Given the description of an element on the screen output the (x, y) to click on. 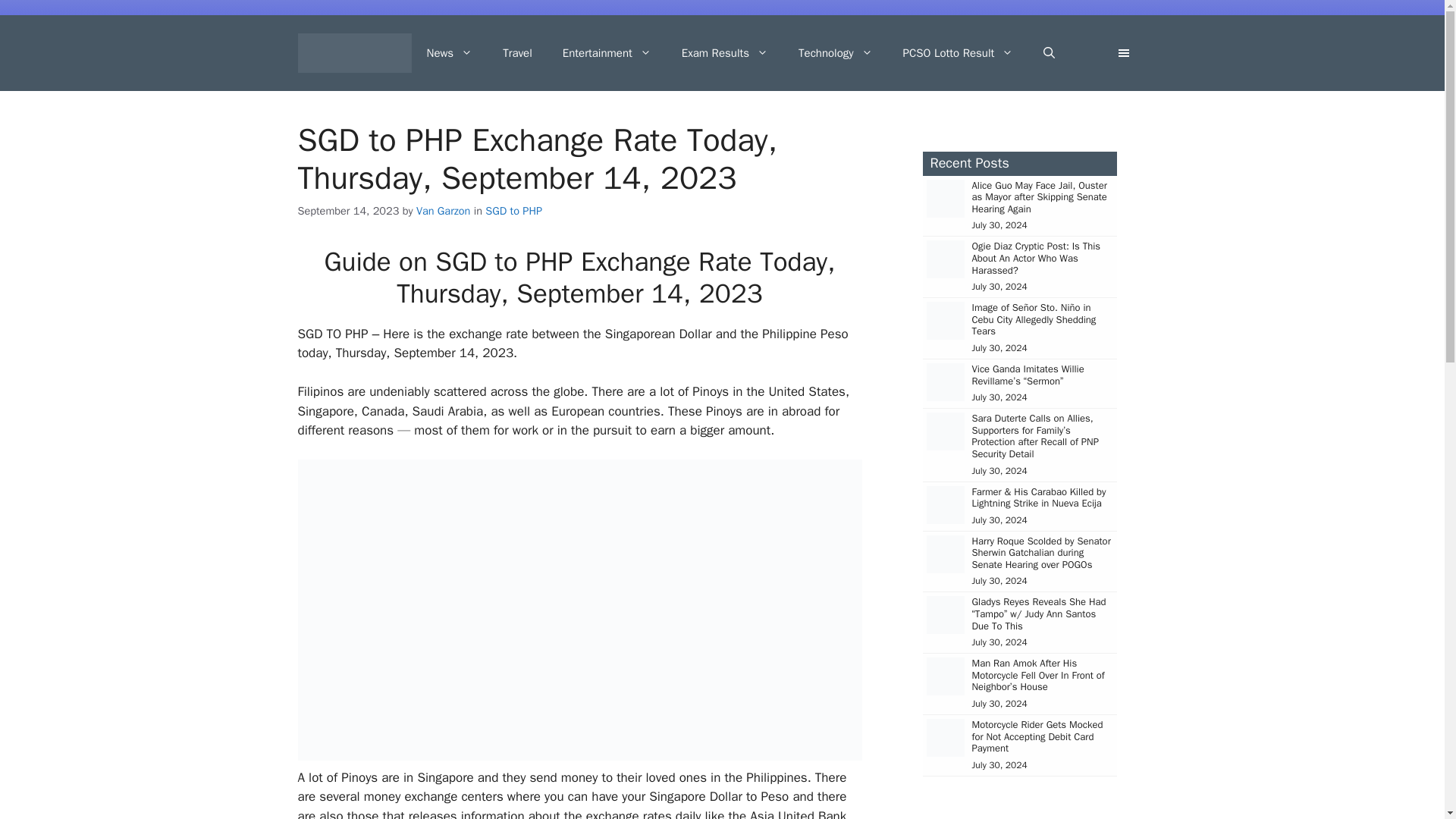
Travel (517, 53)
News (448, 53)
Entertainment (606, 53)
View all posts by Van Garzon (443, 210)
Exam Results (724, 53)
